Given the description of an element on the screen output the (x, y) to click on. 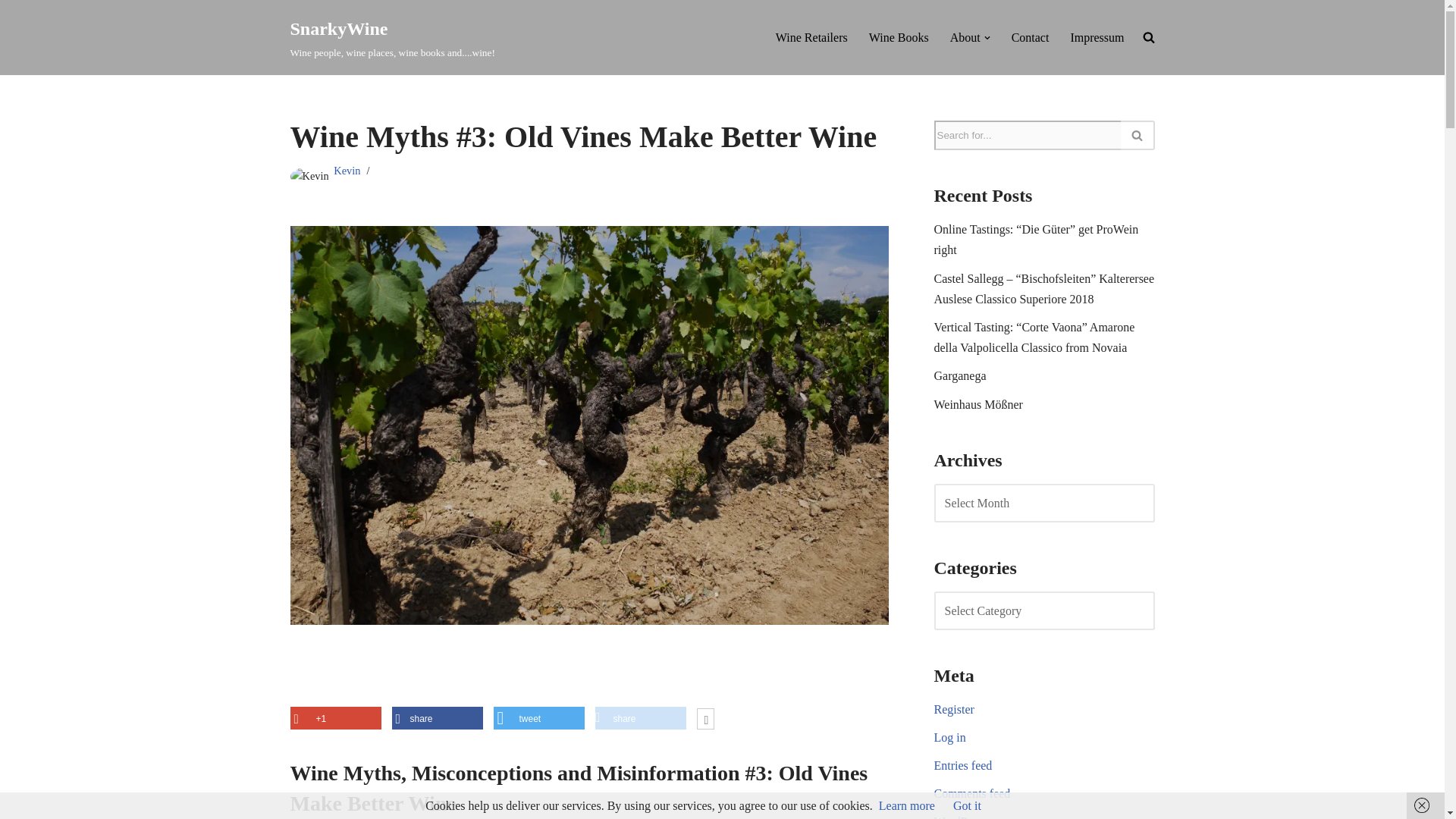
Share on Twitter (392, 37)
Kevin (538, 718)
tweet (346, 170)
Impressum (538, 718)
About (1097, 37)
Contact (964, 37)
Share on Facebook (1030, 37)
share (436, 718)
Wine Books (639, 718)
Posts by Kevin (898, 37)
Share on Reddit (346, 170)
Wine Retailers (639, 718)
share (811, 37)
Skip to content (436, 718)
